Given the description of an element on the screen output the (x, y) to click on. 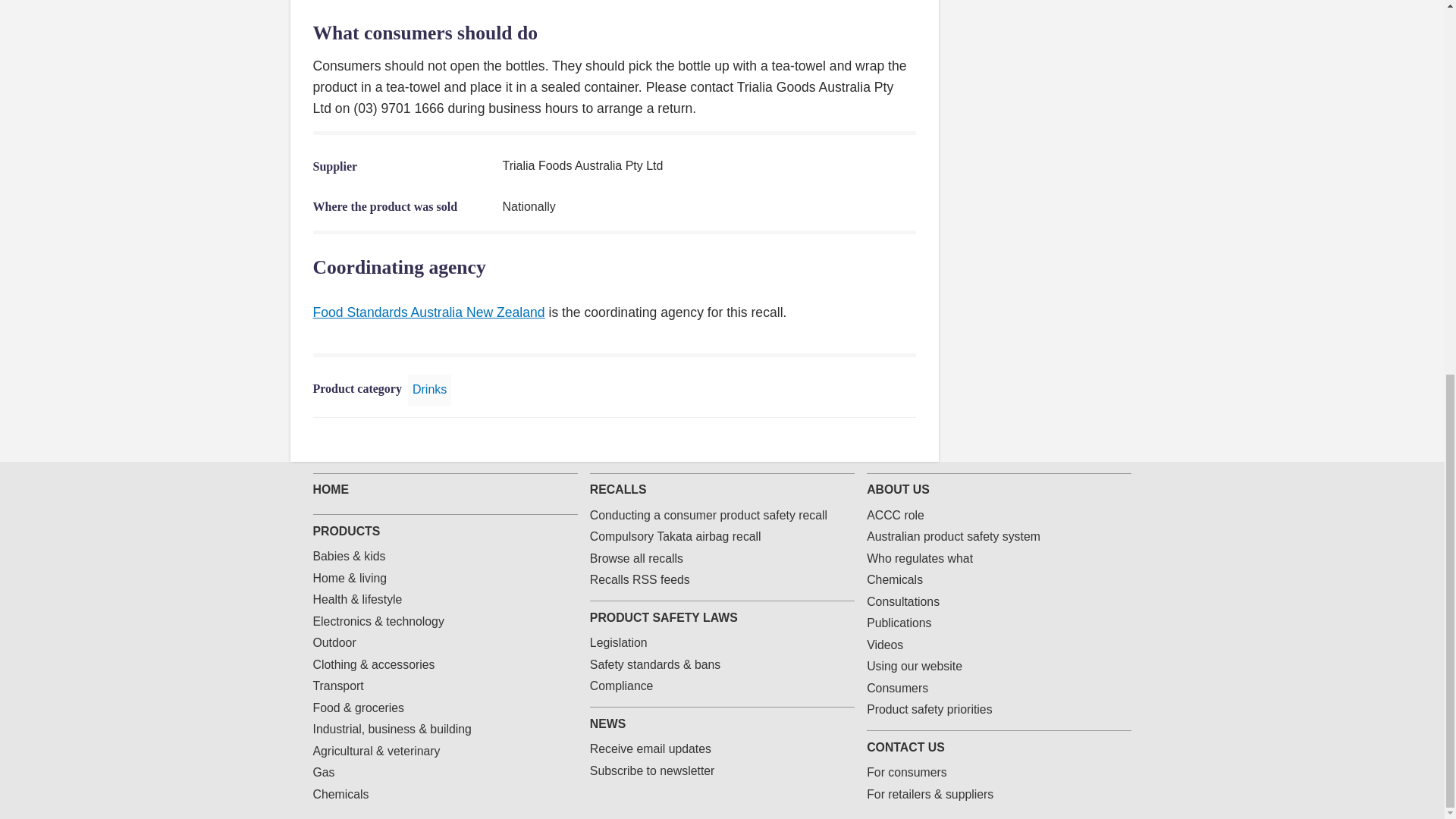
Share on Twitter (834, 439)
Share on Facebook (809, 439)
Print (906, 439)
Email (882, 439)
Share on LinkedIn (857, 439)
